Given the description of an element on the screen output the (x, y) to click on. 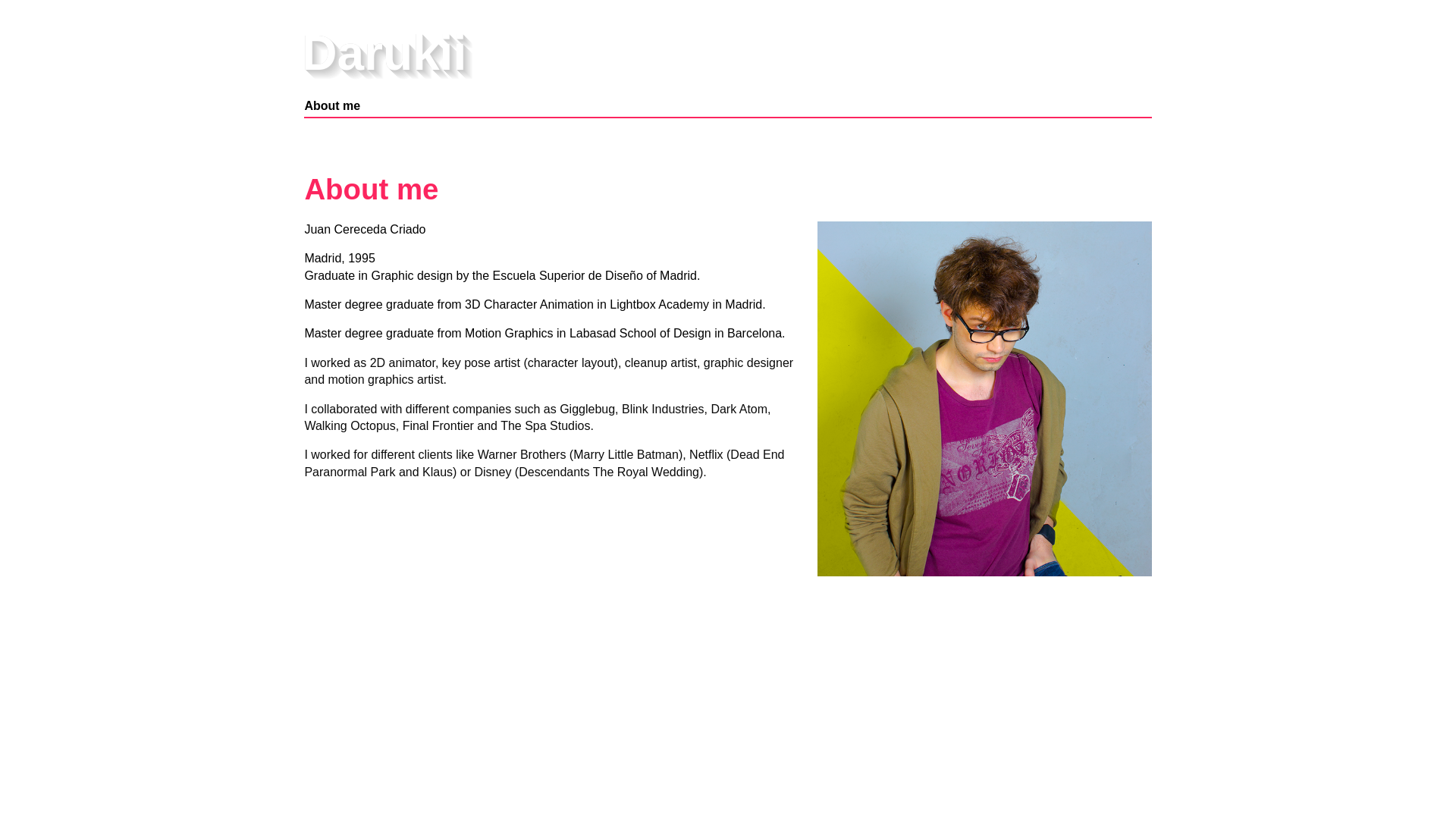
About me (331, 107)
Darukii (383, 52)
Darukii (383, 52)
